Given the description of an element on the screen output the (x, y) to click on. 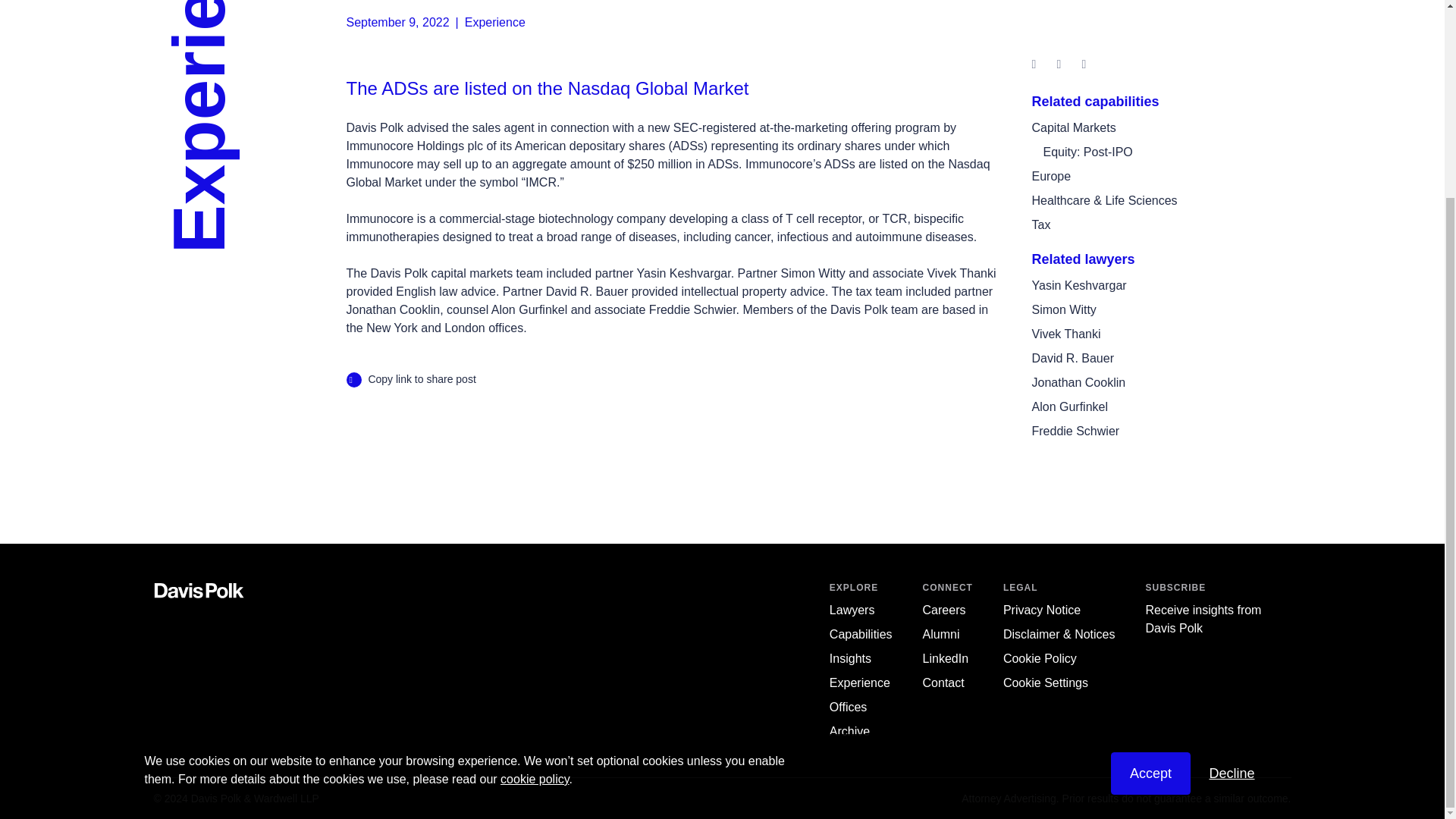
Equity: Post-IPO (1087, 151)
Capital Markets (1072, 127)
Client Updates (849, 658)
Toggle the cookie consent settings tray (1045, 682)
